Given the description of an element on the screen output the (x, y) to click on. 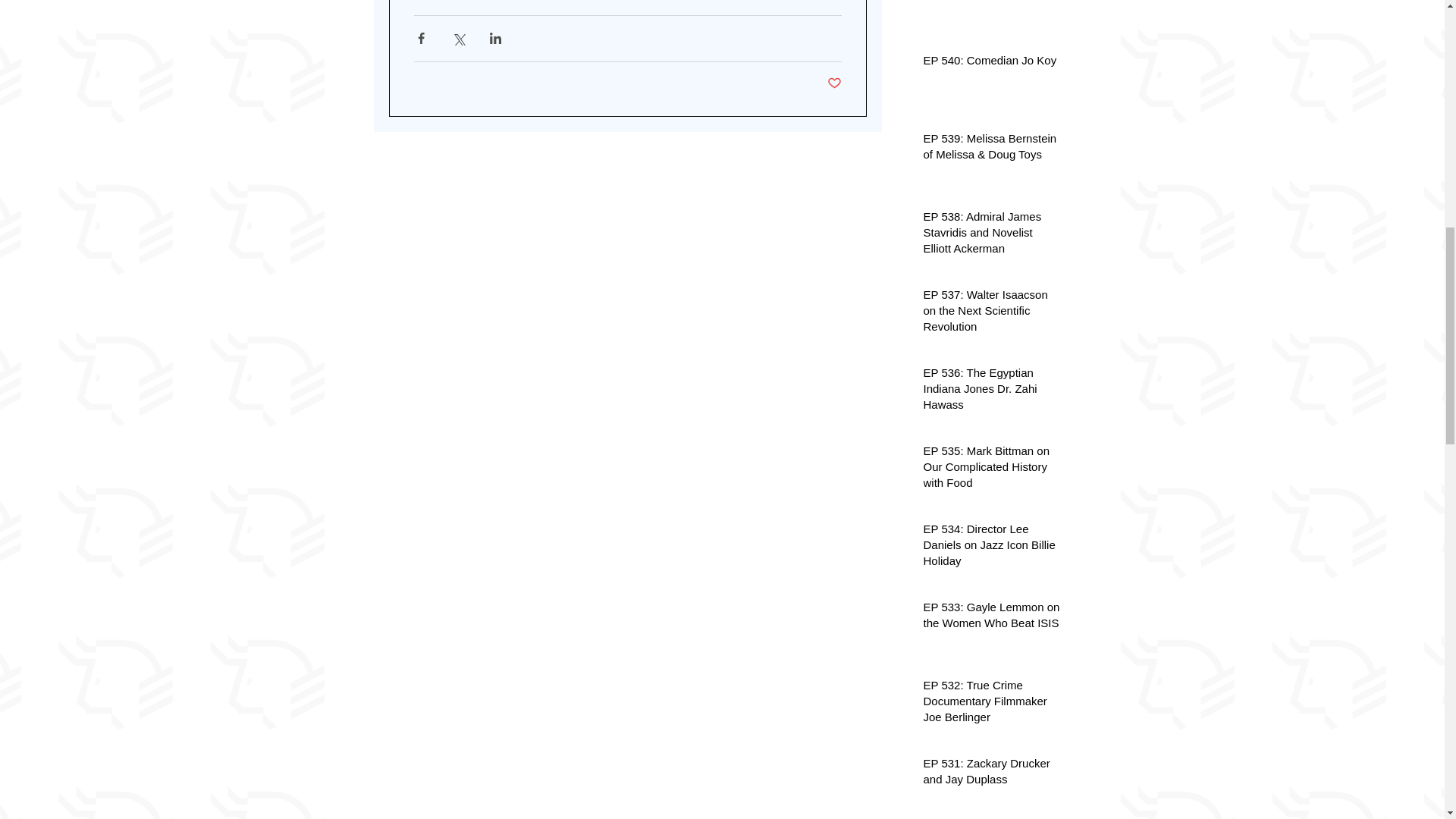
EP 537: Walter Isaacson on the Next Scientific Revolution (992, 313)
Post not marked as liked (834, 83)
EP 531: Zackary Drucker and Jay Duplass (992, 774)
EP 534: Director Lee Daniels on Jazz Icon Billie Holiday (992, 547)
EP 540: Comedian Jo Koy (992, 62)
EP 535: Mark Bittman on Our Complicated History with Food (992, 469)
EP 532: True Crime Documentary Filmmaker Joe Berlinger (992, 703)
EP 533: Gayle Lemmon on the Women Who Beat ISIS (992, 617)
EP 536: The Egyptian Indiana Jones Dr. Zahi Hawass (992, 390)
